Given the description of an element on the screen output the (x, y) to click on. 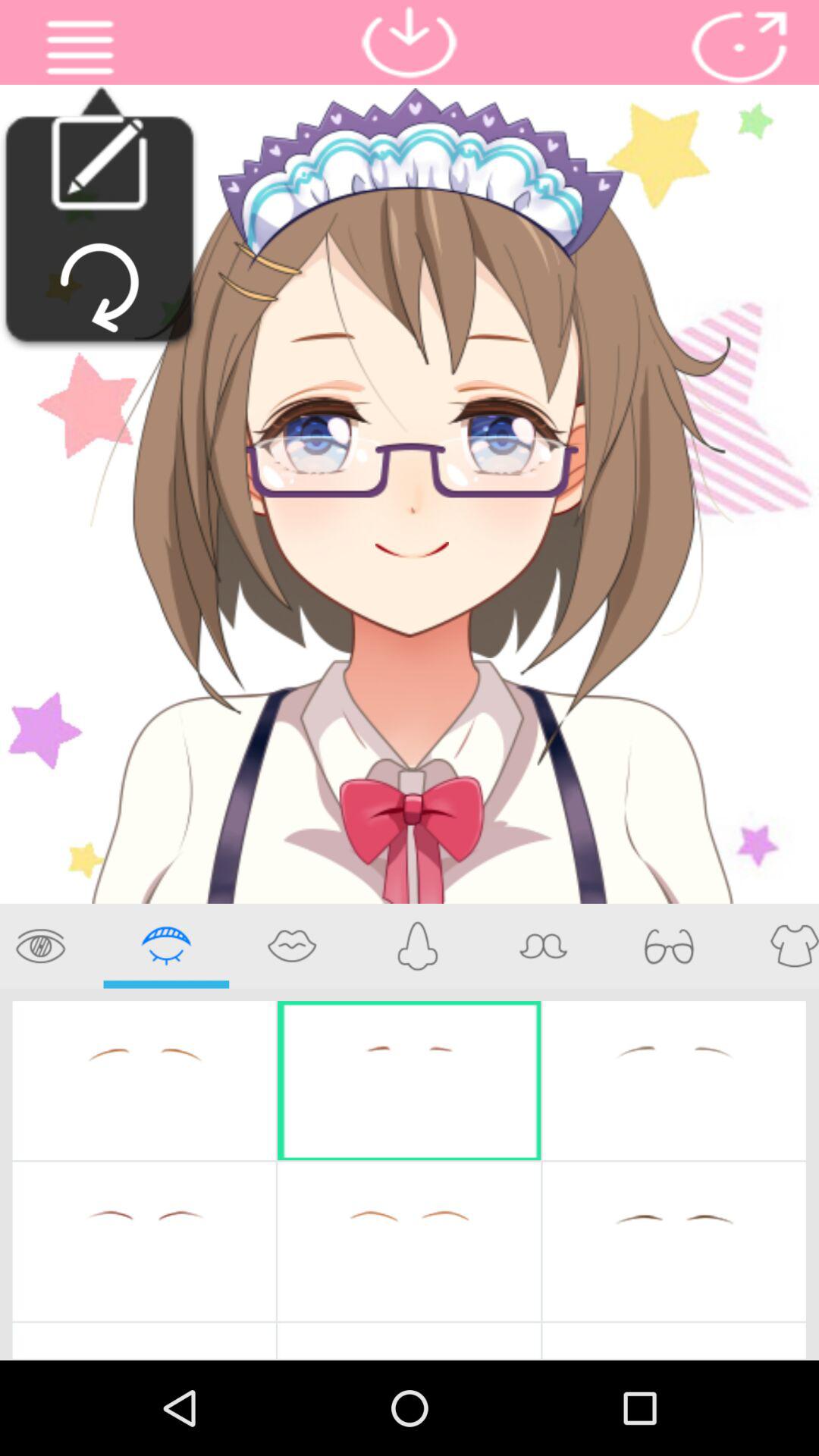
select the symbol above reload symbol (99, 162)
